Given the description of an element on the screen output the (x, y) to click on. 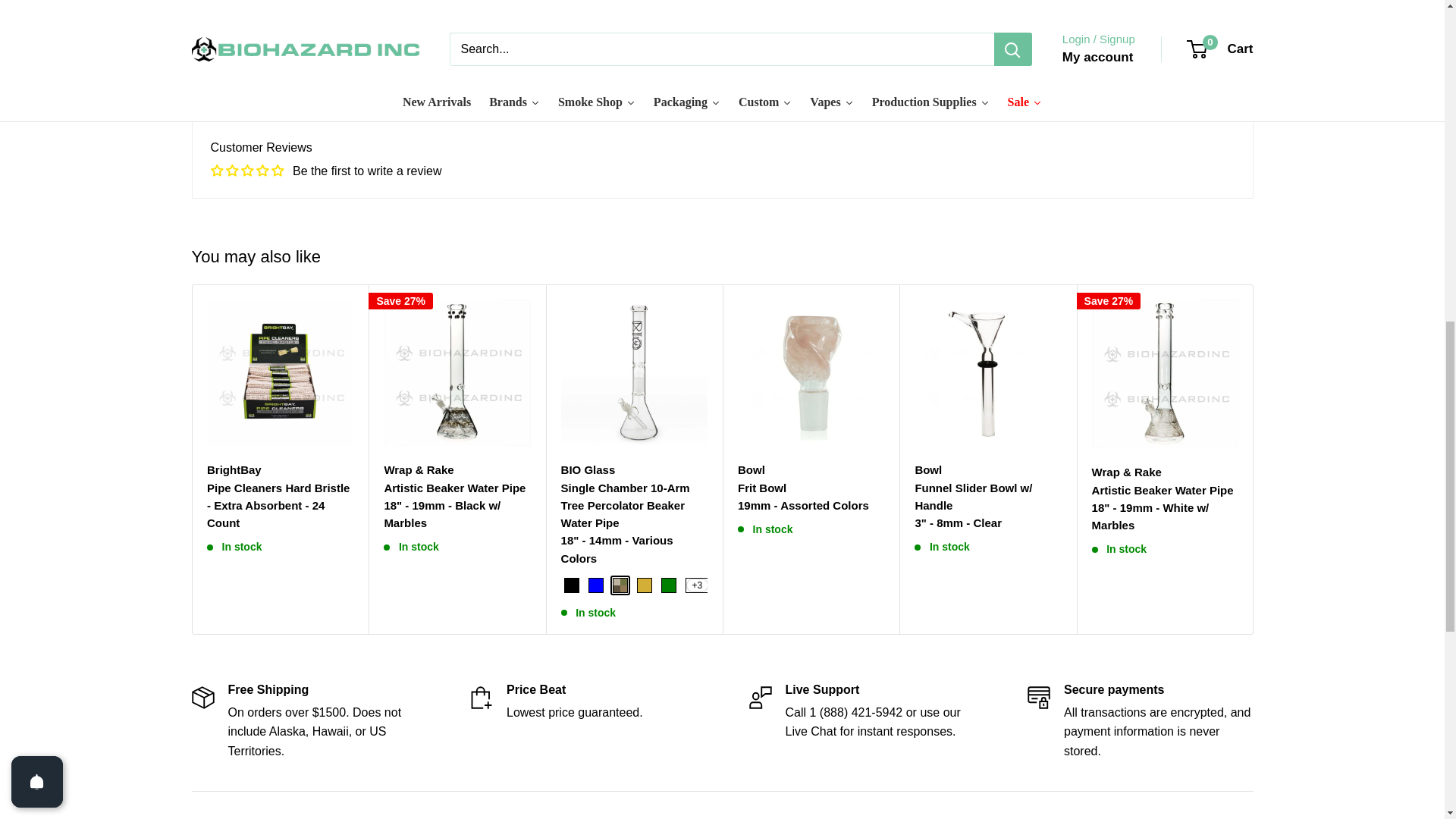
Blue (595, 585)
Black (571, 585)
Camo (619, 585)
Gold (643, 585)
